Given the description of an element on the screen output the (x, y) to click on. 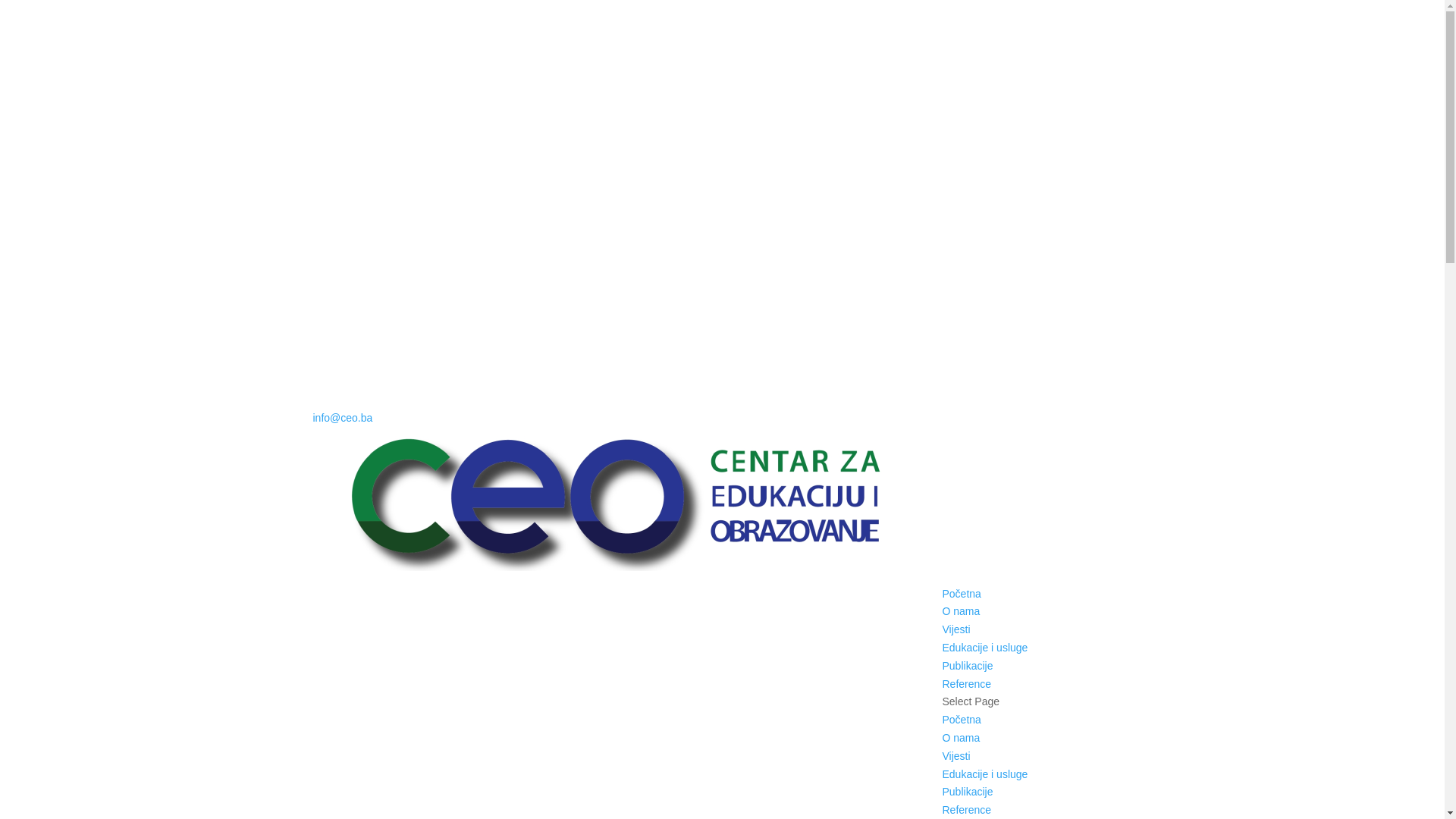
Publikacije Element type: text (966, 791)
O nama Element type: text (960, 737)
Reference Element type: text (966, 683)
Edukacije i usluge Element type: text (984, 647)
Reference Element type: text (966, 809)
Publikacije Element type: text (966, 665)
info@ceo.ba Element type: text (342, 417)
Edukacije i usluge Element type: text (984, 774)
O nama Element type: text (960, 611)
Vijesti Element type: text (955, 629)
Vijesti Element type: text (955, 755)
